Given the description of an element on the screen output the (x, y) to click on. 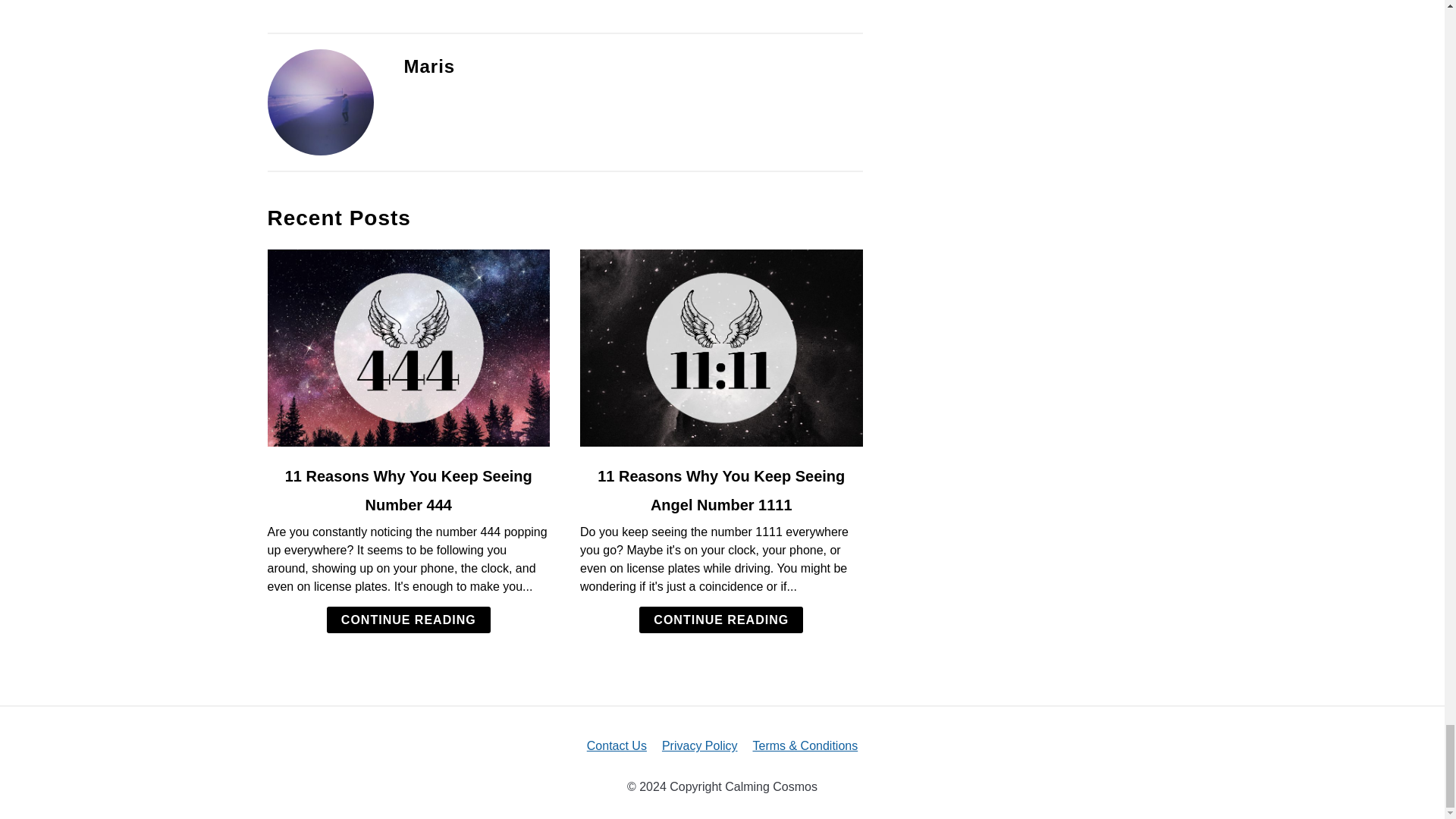
Privacy Policy (700, 745)
11 Reasons Why You Keep Seeing Number 444 (408, 490)
link to 11 Reasons Why You Keep Seeing Number 444 (408, 347)
link to 11 Reasons Why You Keep Seeing Angel Number 1111 (721, 347)
Maris (428, 66)
CONTINUE READING (408, 619)
Contact Us (616, 745)
11 Reasons Why You Keep Seeing Angel Number 1111 (720, 490)
CONTINUE READING (721, 619)
